Given the description of an element on the screen output the (x, y) to click on. 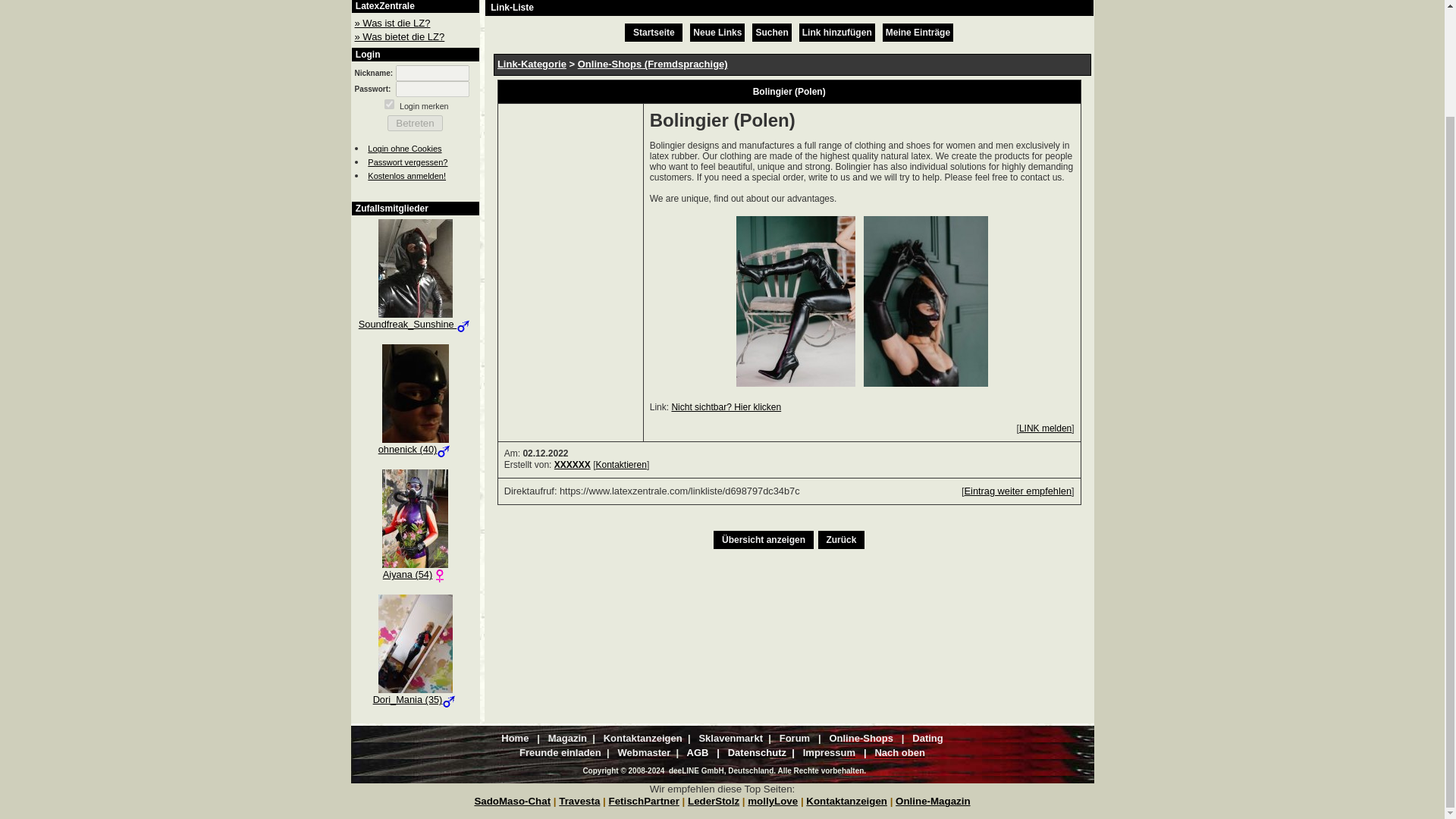
Kostenlos anmelden! (406, 174)
Neue Links (717, 32)
Suchen (771, 32)
yes (389, 103)
Startseite (654, 32)
Link-Kategorie (531, 63)
Login ohne Cookies (404, 147)
Passwort vergessen? (407, 161)
 Betreten  (415, 123)
 Betreten  (415, 123)
